Given the description of an element on the screen output the (x, y) to click on. 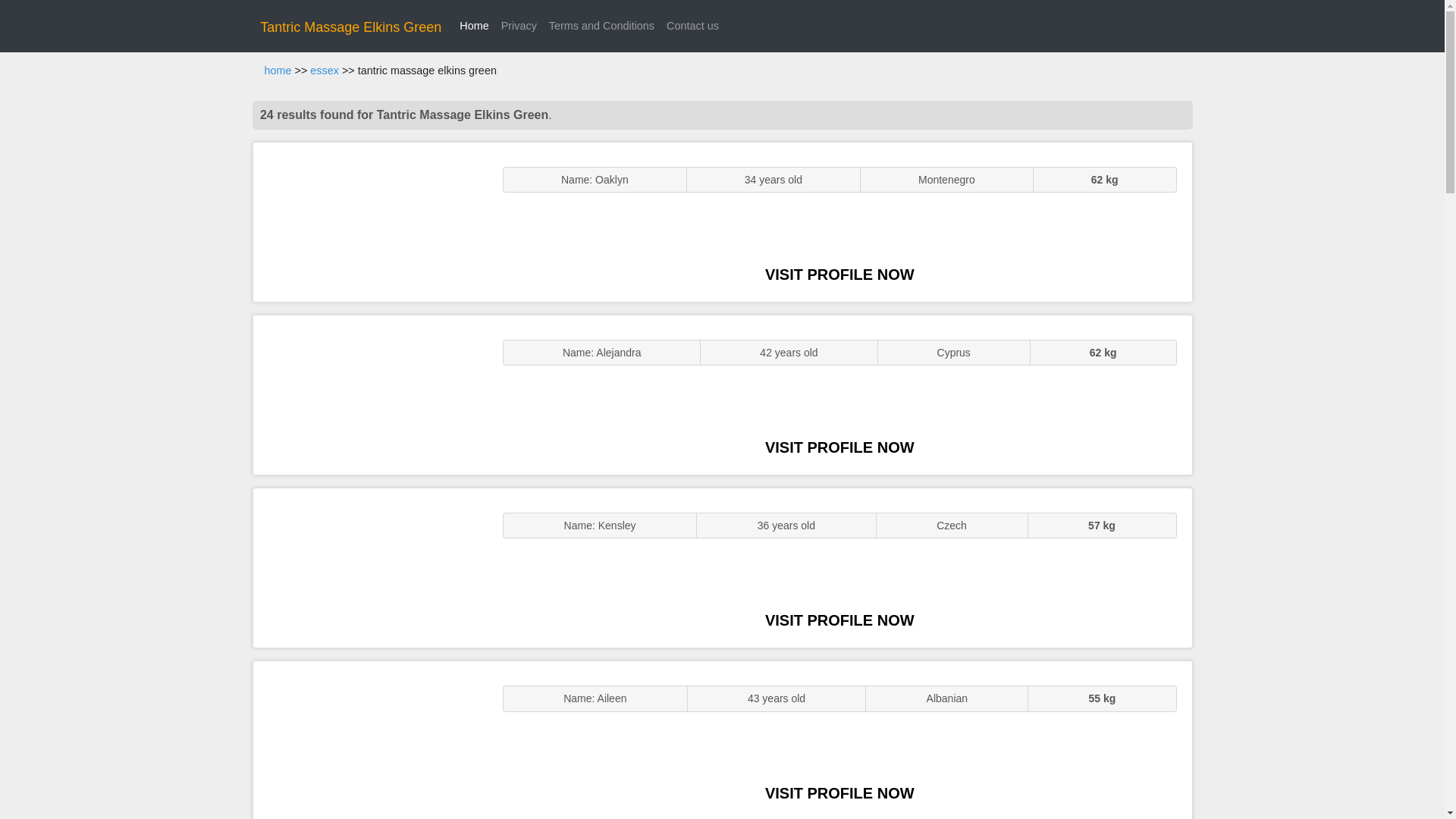
VISIT PROFILE NOW (839, 274)
essex (324, 70)
VISIT PROFILE NOW (839, 792)
GFE (370, 395)
Terms and Conditions (602, 25)
Contact us (693, 25)
Tantric Massage Elkins Green (350, 27)
Privacy (519, 25)
home (277, 70)
Sluts (370, 739)
VISIT PROFILE NOW (839, 619)
VISIT PROFILE NOW (839, 446)
Sexy (370, 567)
 ENGLISH STUNNER (370, 222)
